Given the description of an element on the screen output the (x, y) to click on. 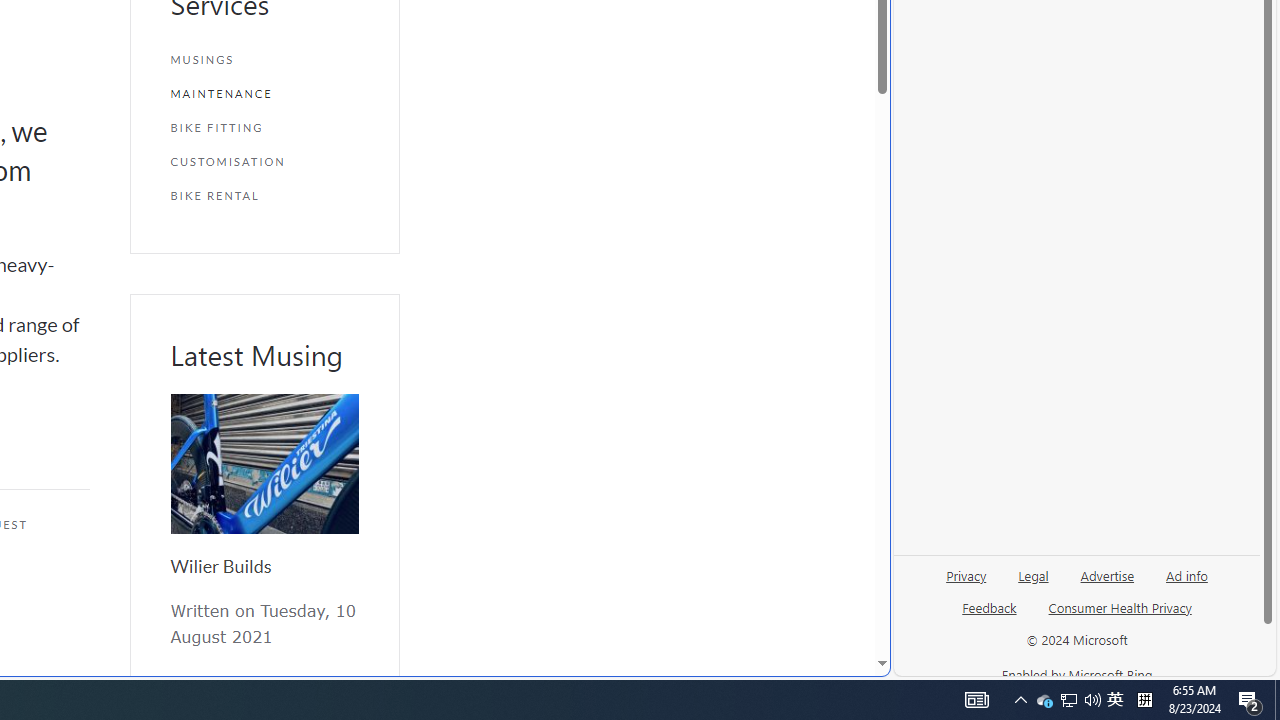
Wilier Builds (264, 463)
MAINTENANCE (264, 93)
MUSINGS (264, 60)
BIKE FITTING (264, 127)
Wilier Builds (220, 566)
Class: wk-position-cover (264, 463)
